Given the description of an element on the screen output the (x, y) to click on. 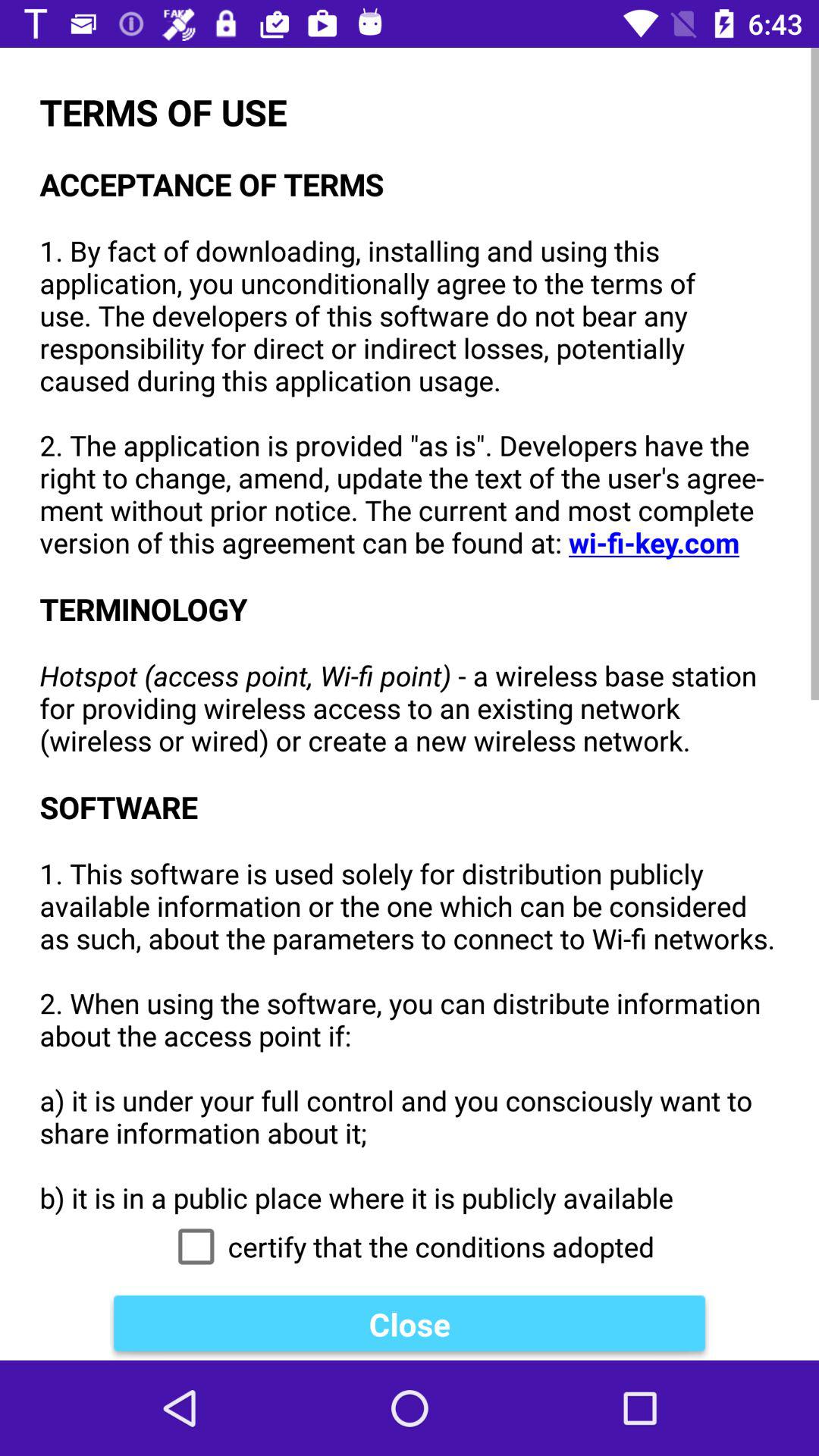
swipe until the close icon (409, 1324)
